Given the description of an element on the screen output the (x, y) to click on. 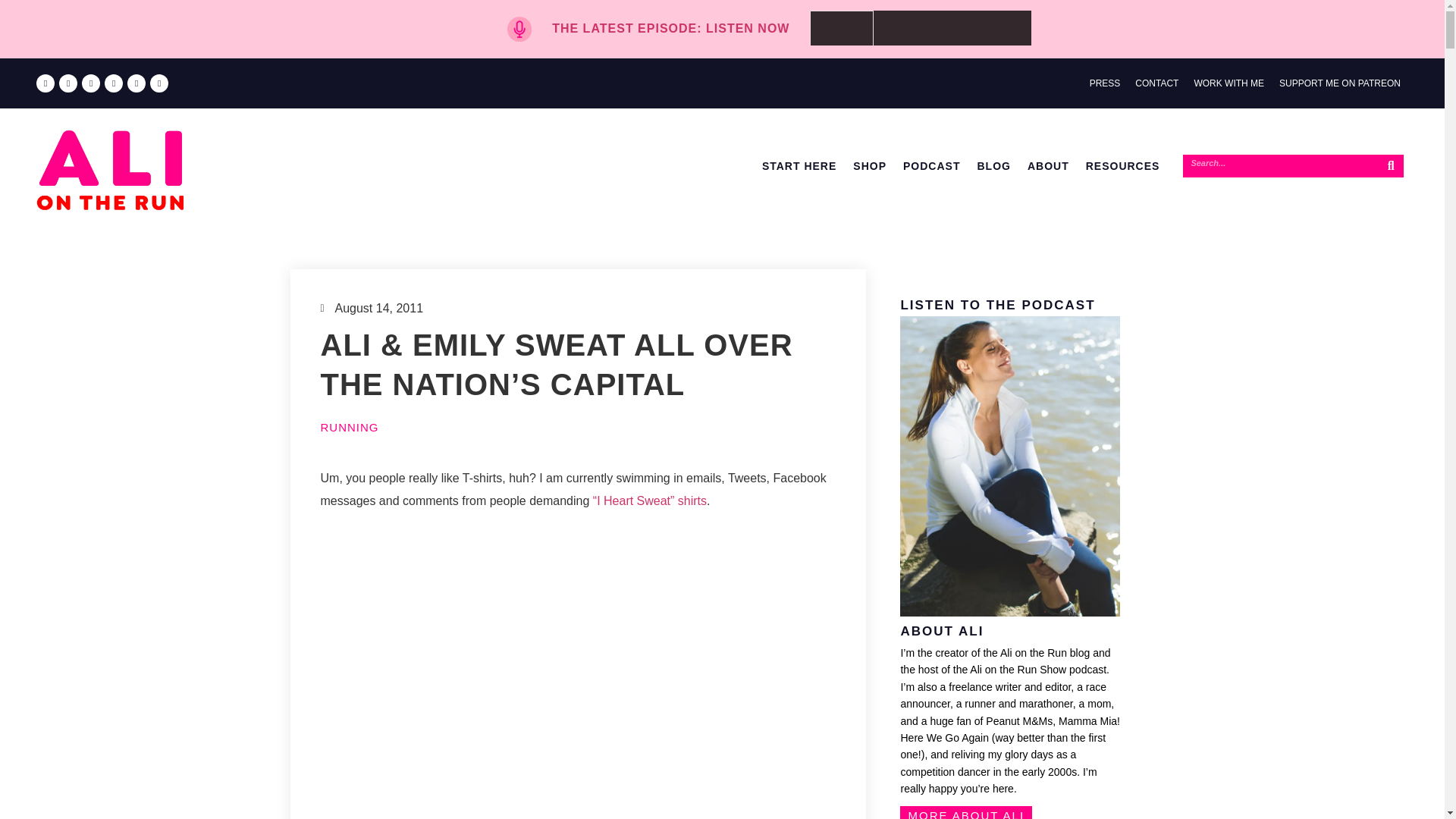
SHOP (869, 165)
RUNNING (349, 427)
SUPPORT ME ON PATREON (1339, 83)
WORK WITH ME (1228, 83)
RESOURCES (1123, 165)
PODCAST (931, 165)
START HERE (799, 165)
PRESS (1104, 83)
BLOG (992, 165)
CONTACT (1156, 83)
